Given the description of an element on the screen output the (x, y) to click on. 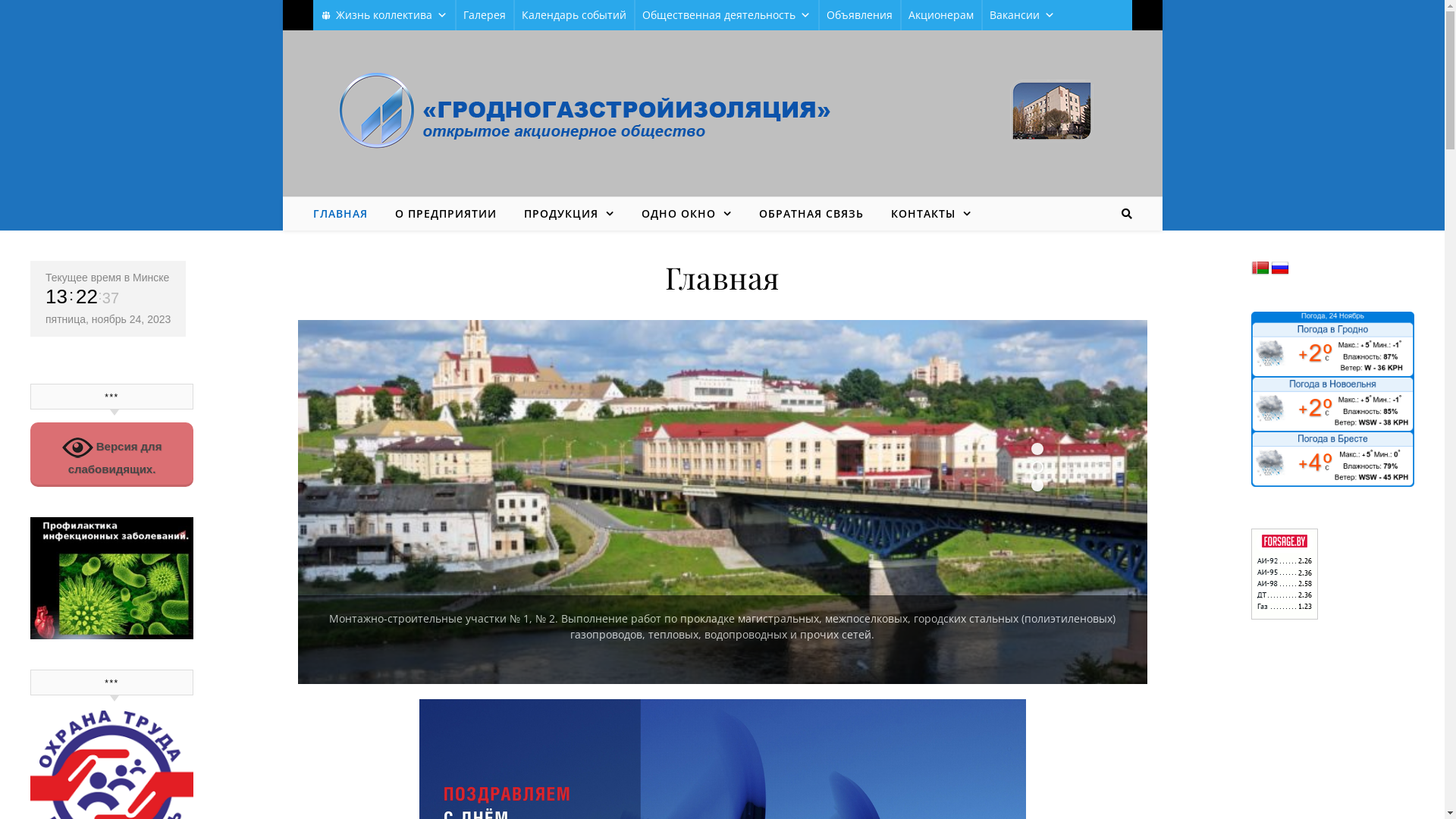
1 Element type: text (1037, 448)
Russian Element type: hover (1279, 268)
2 Element type: text (1037, 467)
Belarusian Element type: hover (1260, 268)
1539935508_0ikv1zyx-vg-576x432 Element type: hover (721, 502)
3 Element type: text (1037, 485)
